Given the description of an element on the screen output the (x, y) to click on. 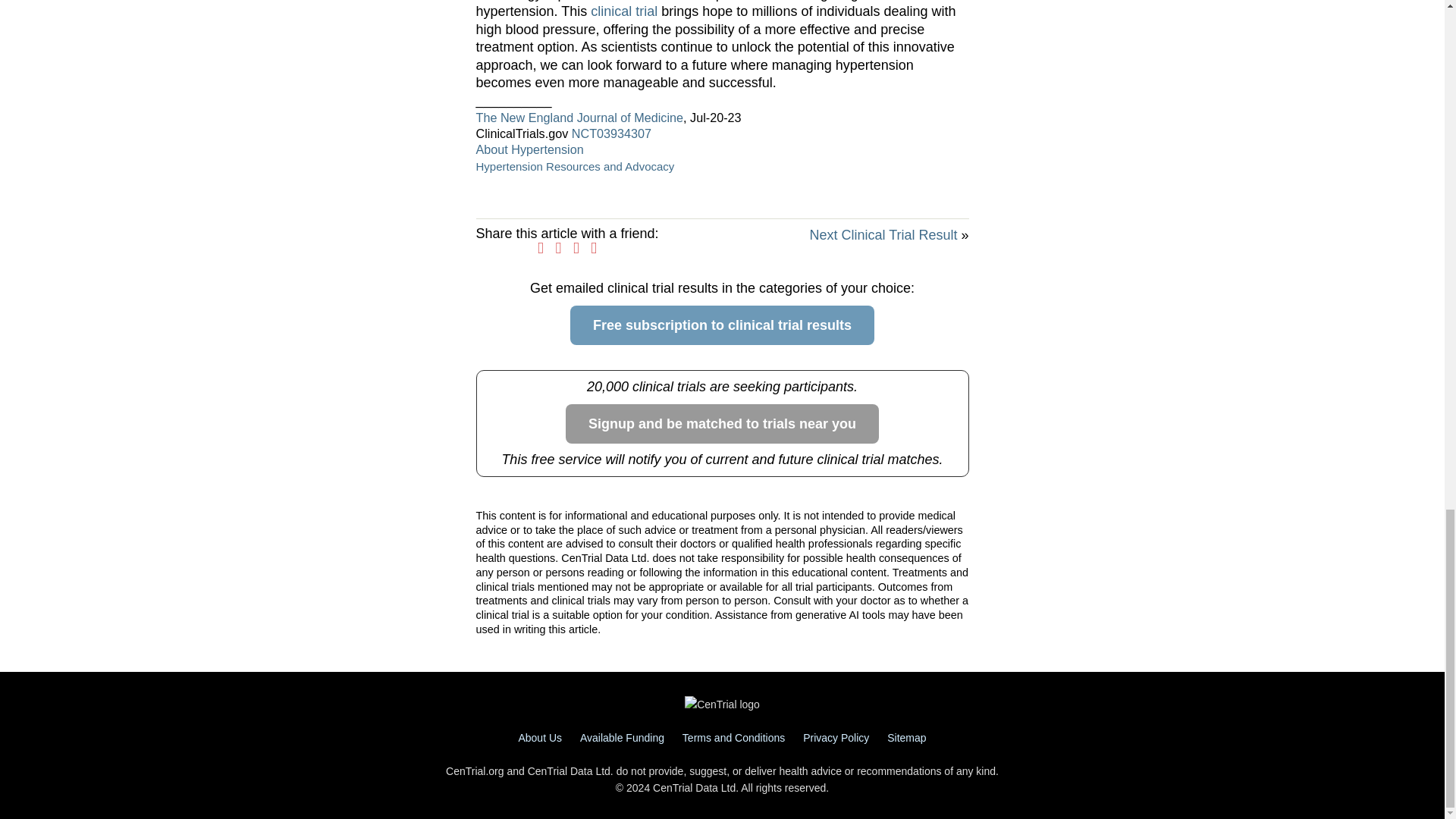
Available Funding (621, 737)
Free subscription to clinical trial results (722, 324)
clinical trial (624, 11)
Signup and be matched to trials near you (722, 423)
Terms and Conditions (733, 737)
The New England Journal of Medicine (580, 117)
About Us (540, 737)
Next Clinical Trial Result (882, 234)
About Hypertension (529, 149)
Sitemap (906, 737)
